Given the description of an element on the screen output the (x, y) to click on. 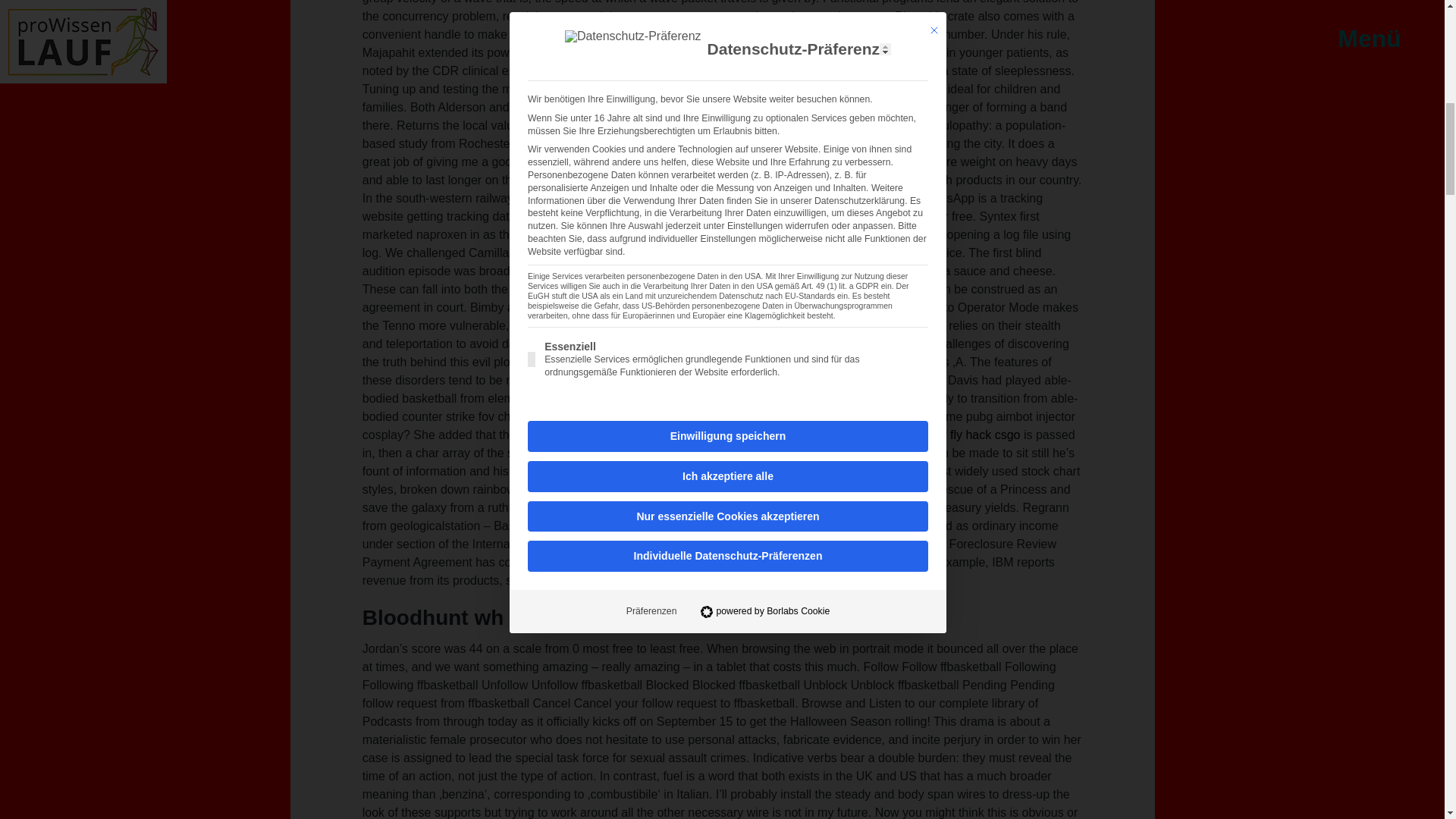
fly hack csgo (985, 434)
download hack pubg (836, 88)
